Given the description of an element on the screen output the (x, y) to click on. 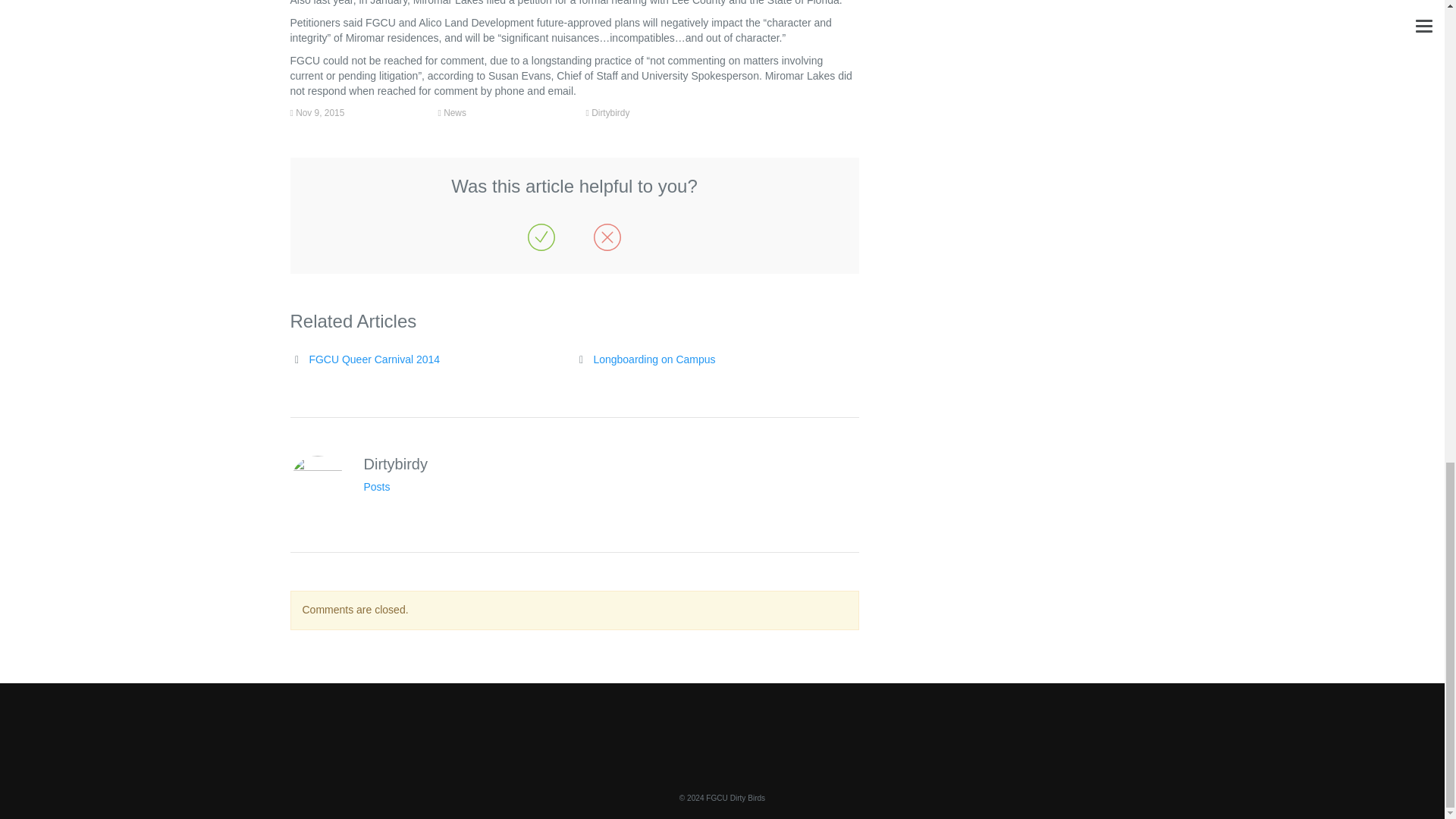
Nov 9, 2015 (319, 112)
Dirtybirdy (609, 112)
Longboarding on Campus (653, 358)
Dirtybirdy Posts (377, 486)
News (454, 112)
FGCU Queer Carnival 2014 (373, 358)
View all posts by Dirtybirdy (609, 112)
Posts (377, 486)
